Given the description of an element on the screen output the (x, y) to click on. 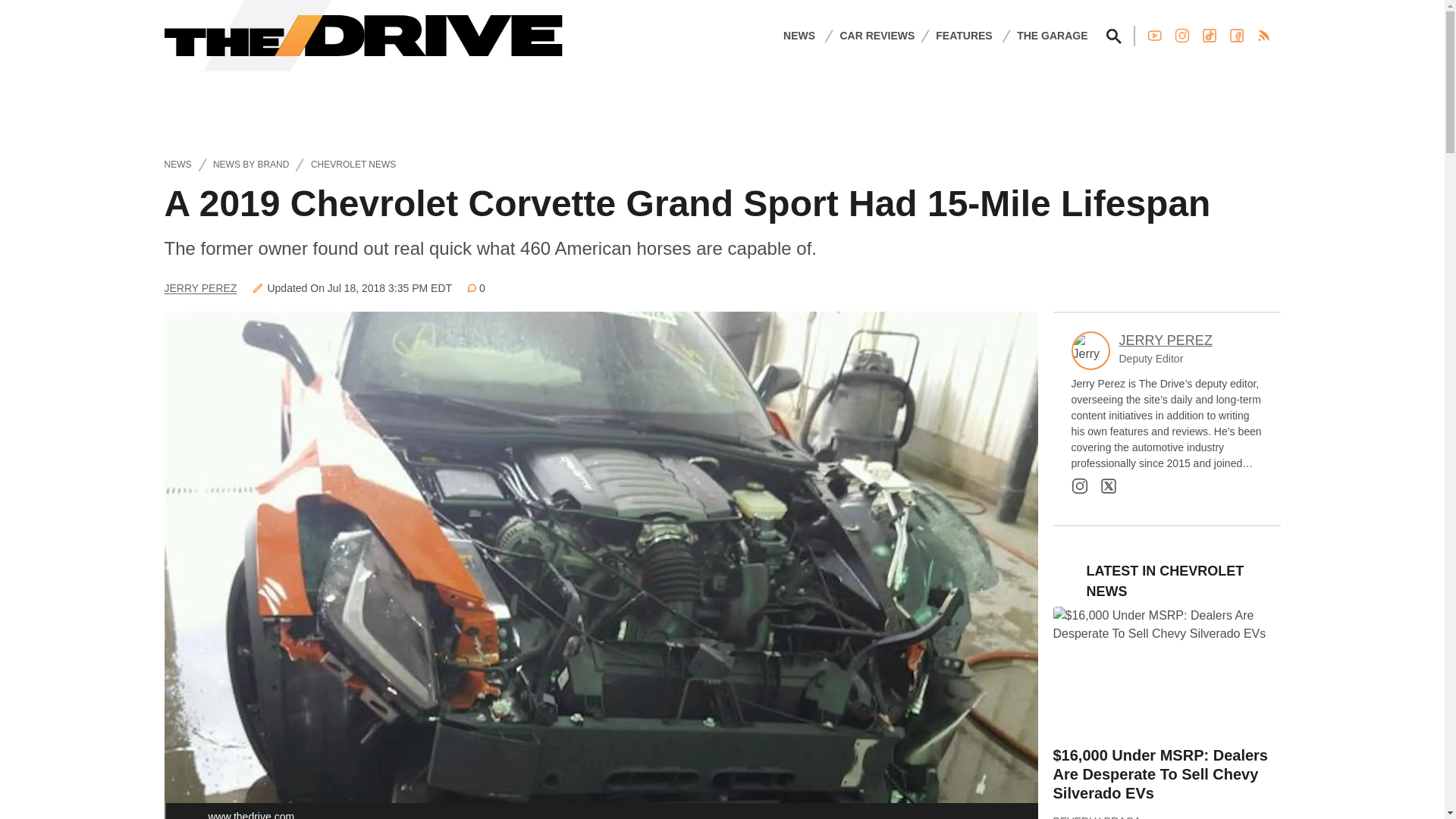
NEWS (799, 34)
